Given the description of an element on the screen output the (x, y) to click on. 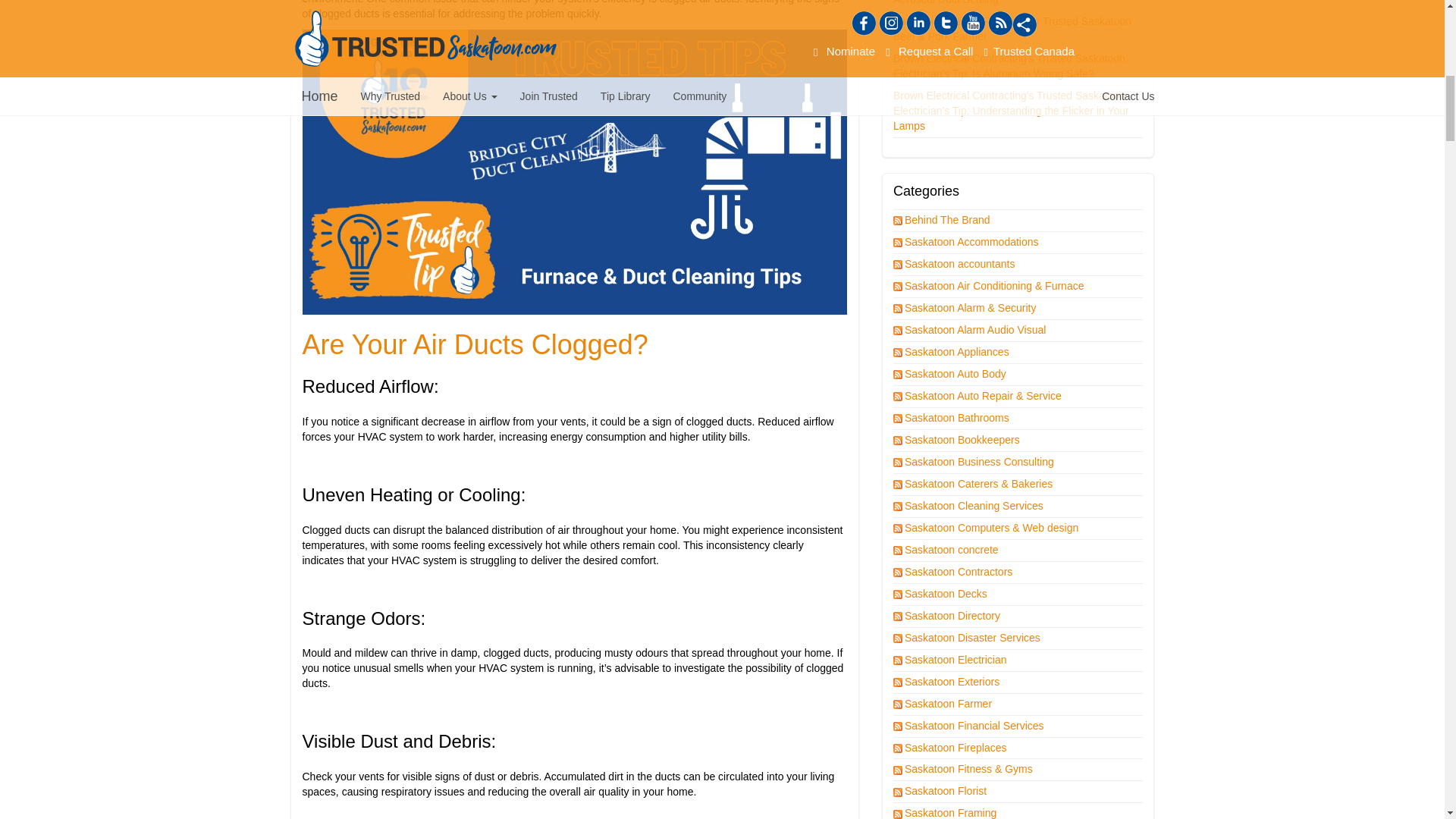
Are Your Air Ducts Clogged? (474, 344)
